Given the description of an element on the screen output the (x, y) to click on. 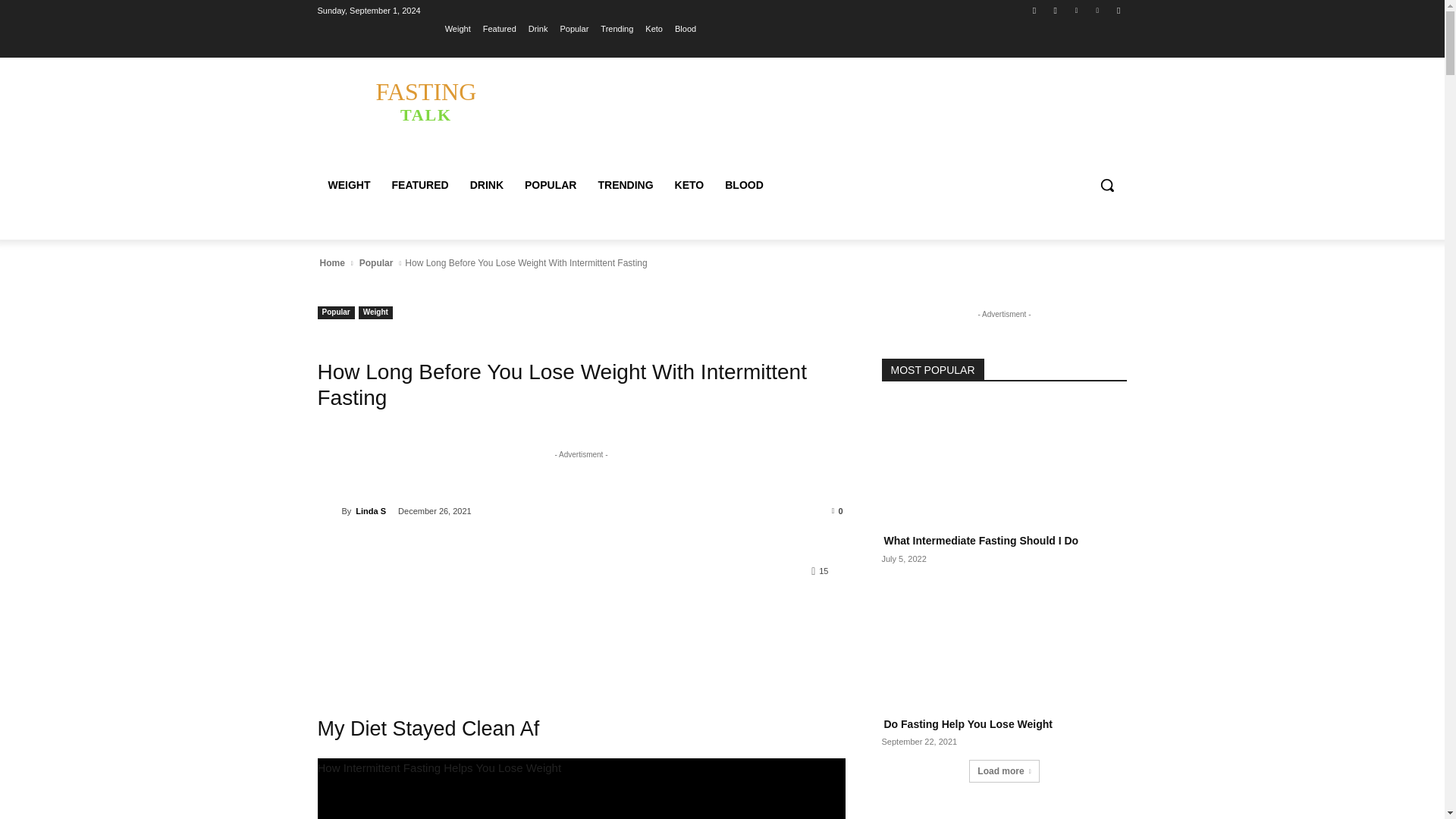
FEATURED (419, 185)
Blood (685, 28)
Youtube (1117, 9)
BLOOD (744, 185)
Home (331, 263)
Weight (457, 28)
Drink (538, 28)
Popular (573, 28)
Vimeo (1097, 9)
POPULAR (549, 185)
